Given the description of an element on the screen output the (x, y) to click on. 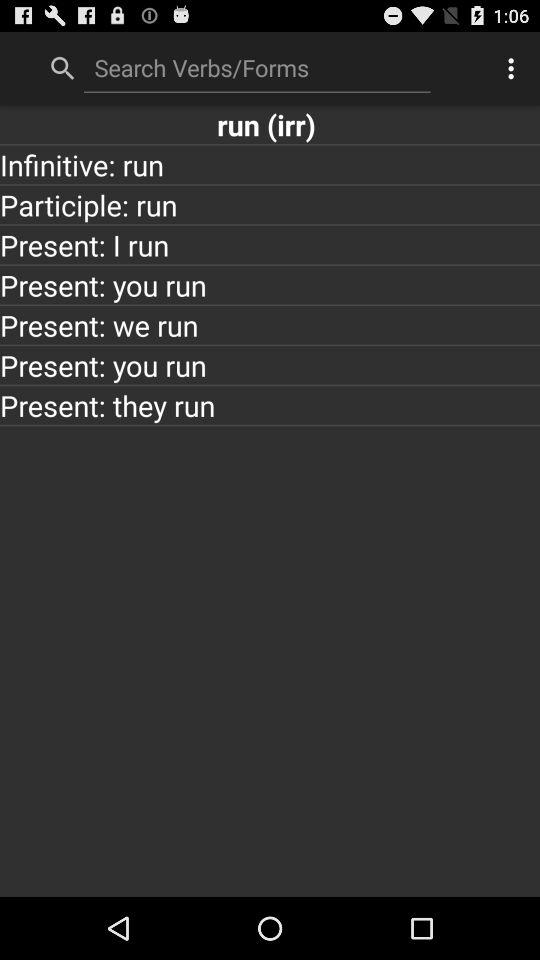
click icon above the infinitive: run item (270, 124)
